Given the description of an element on the screen output the (x, y) to click on. 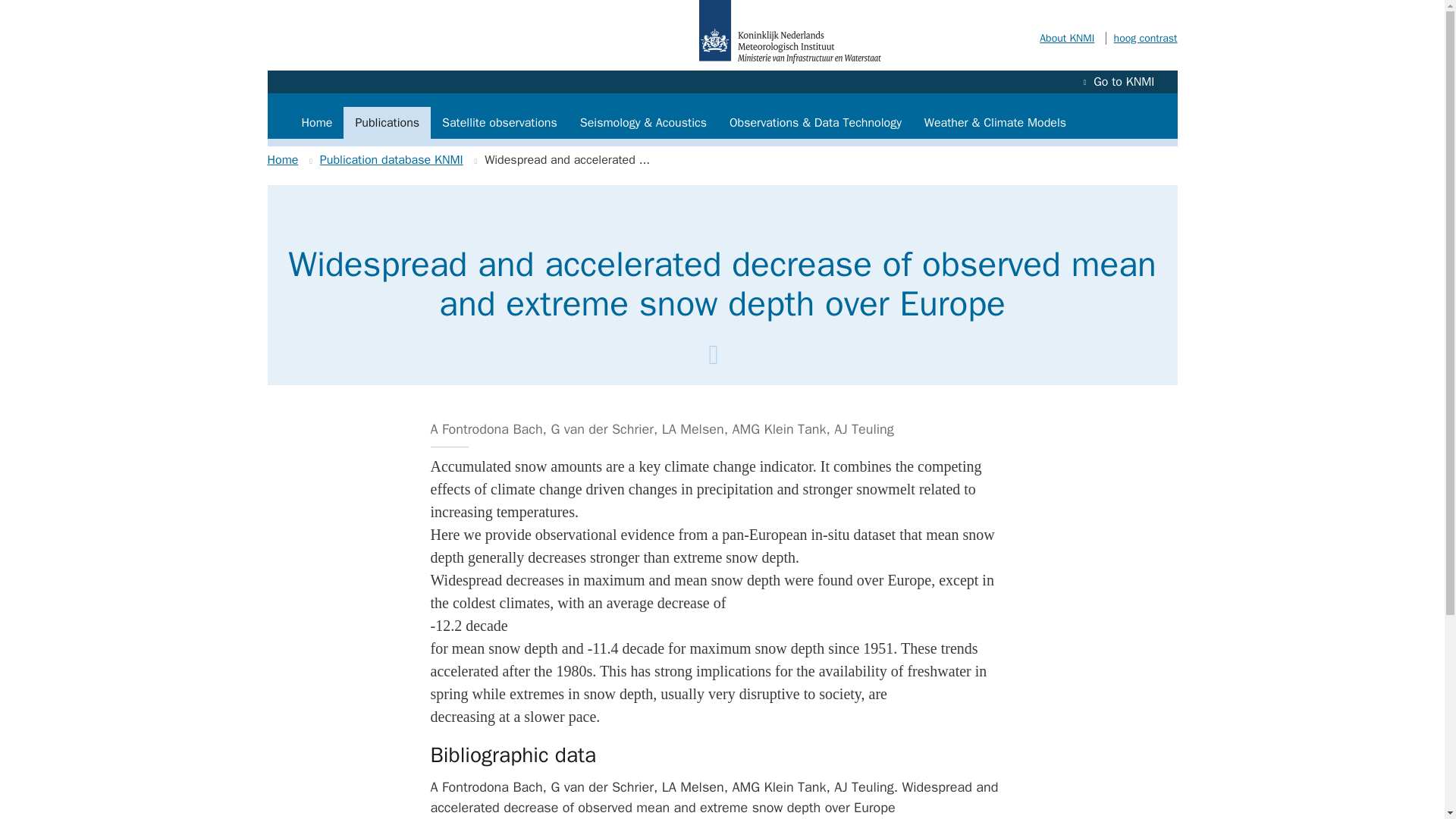
Home (282, 159)
Home (316, 122)
About KNMI (1066, 38)
Publication database KNMI (391, 159)
hoog contrast (1141, 38)
Publications (386, 122)
Go to KNMI (1118, 81)
Satellite observations (499, 122)
